Given the description of an element on the screen output the (x, y) to click on. 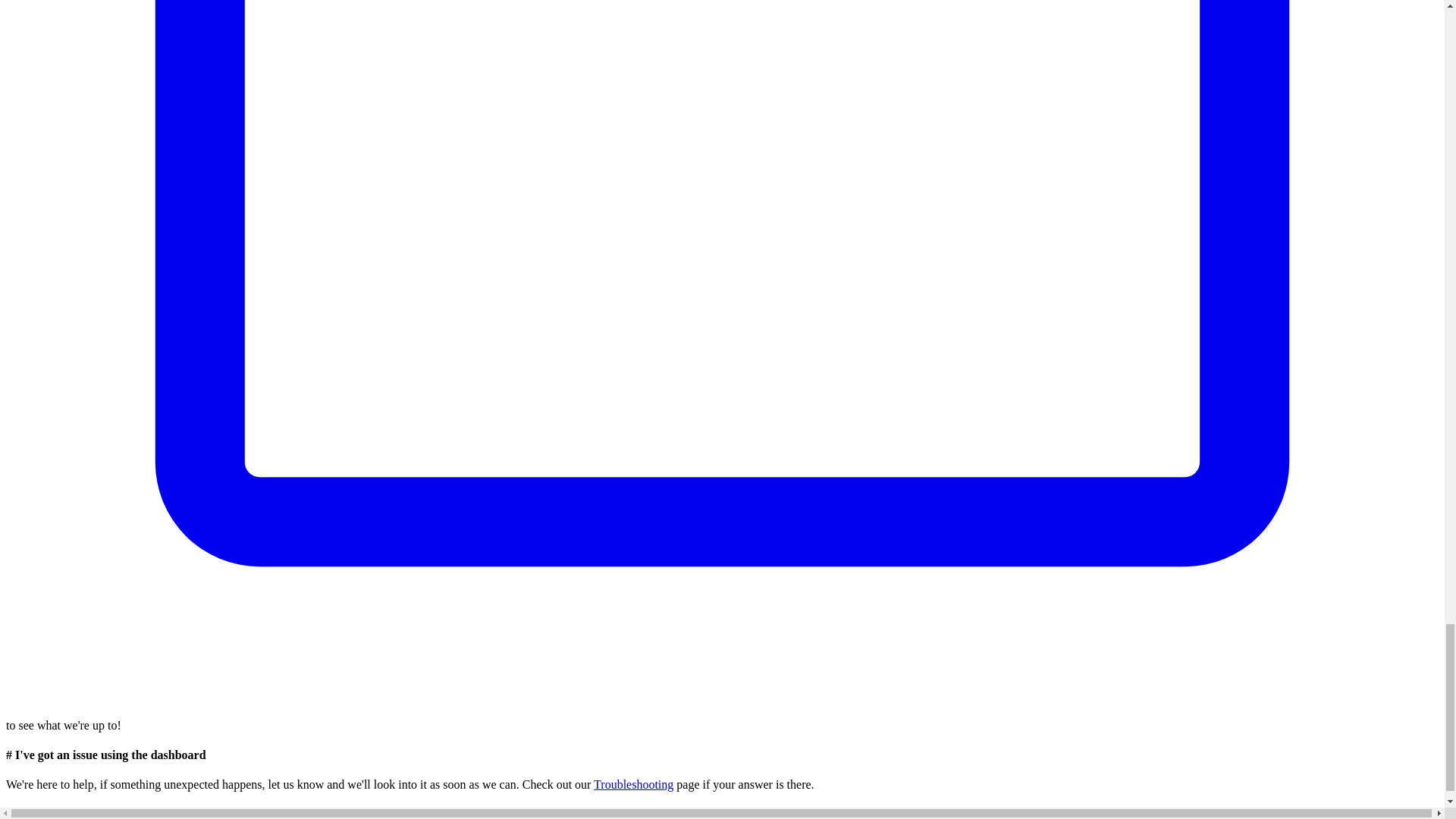
Troubleshooting (633, 784)
